Given the description of an element on the screen output the (x, y) to click on. 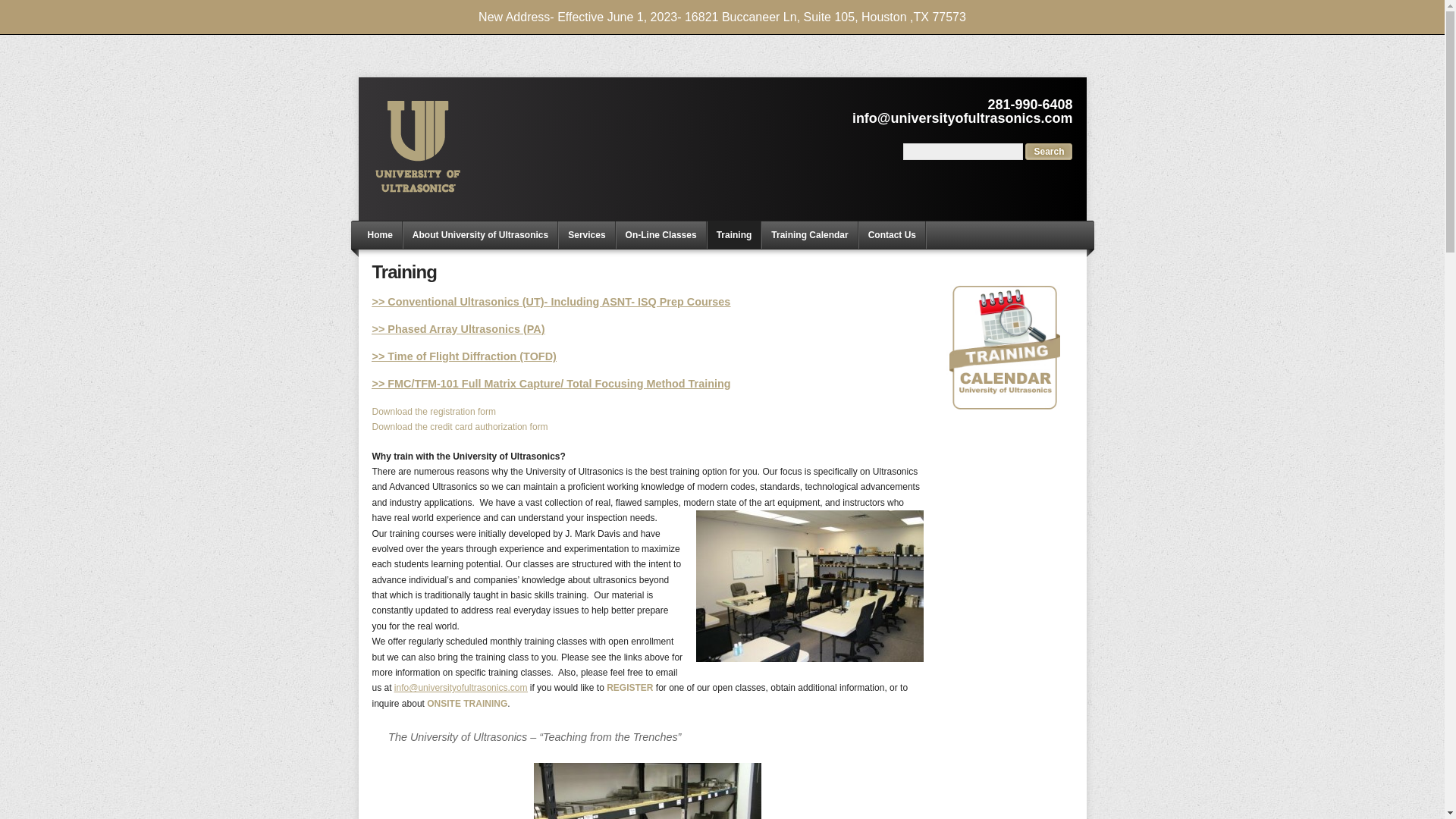
Training Calendar (809, 234)
Contact Us (466, 703)
Contact Us (892, 234)
Search (1048, 151)
On-Line Classes (660, 234)
ONSITE TRAINING (466, 703)
About University of Ultrasonics (480, 234)
Services (586, 234)
Training (734, 234)
Contact Us (631, 687)
Home (379, 234)
Download the registration form (433, 411)
Download the credit card authorization form (459, 426)
Search (1048, 151)
REGISTER (631, 687)
